Given the description of an element on the screen output the (x, y) to click on. 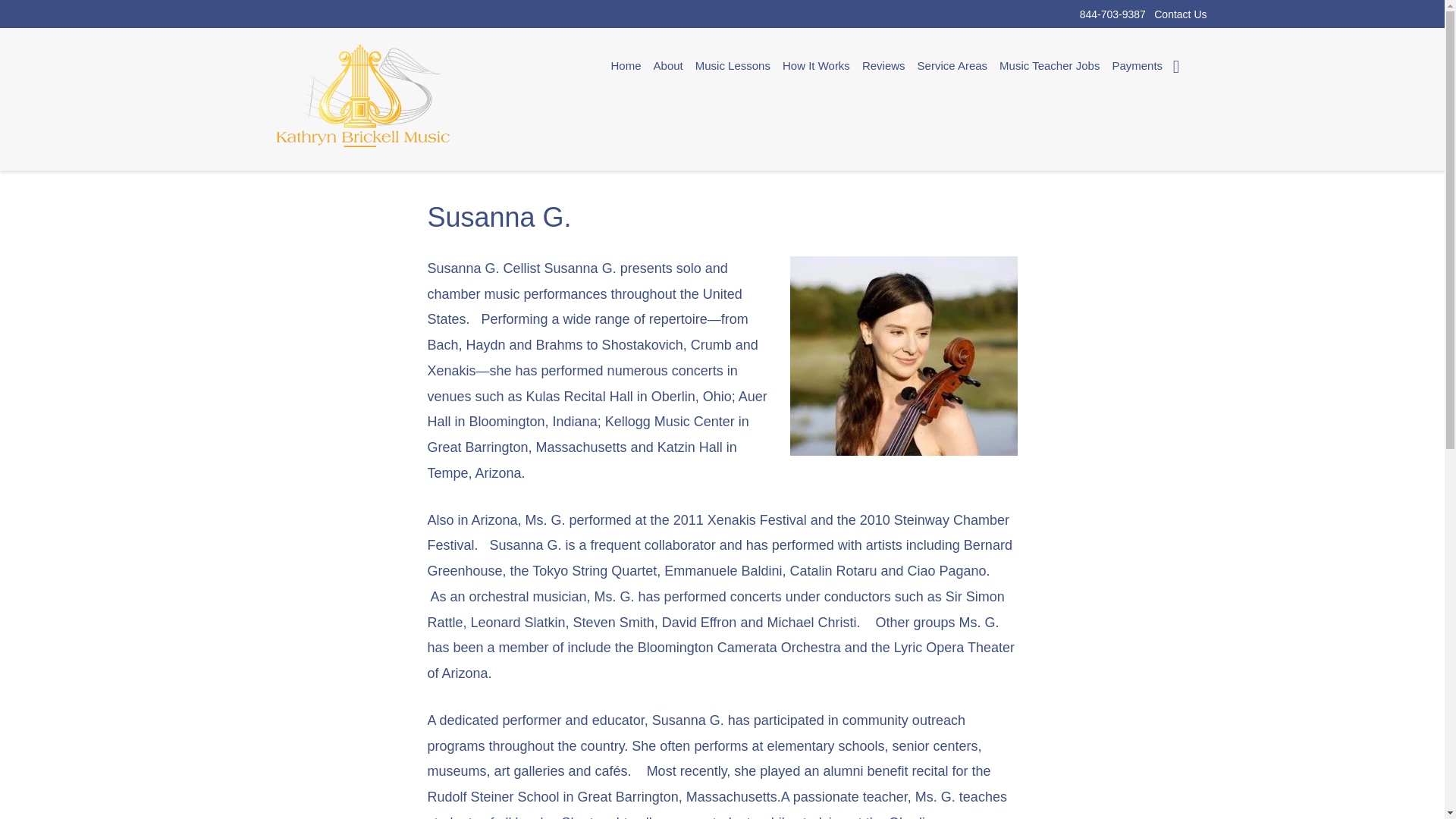
844-703-9387 (1112, 13)
Home (626, 65)
Music Lessons (732, 65)
About (667, 65)
Contact Us (1180, 13)
